Given the description of an element on the screen output the (x, y) to click on. 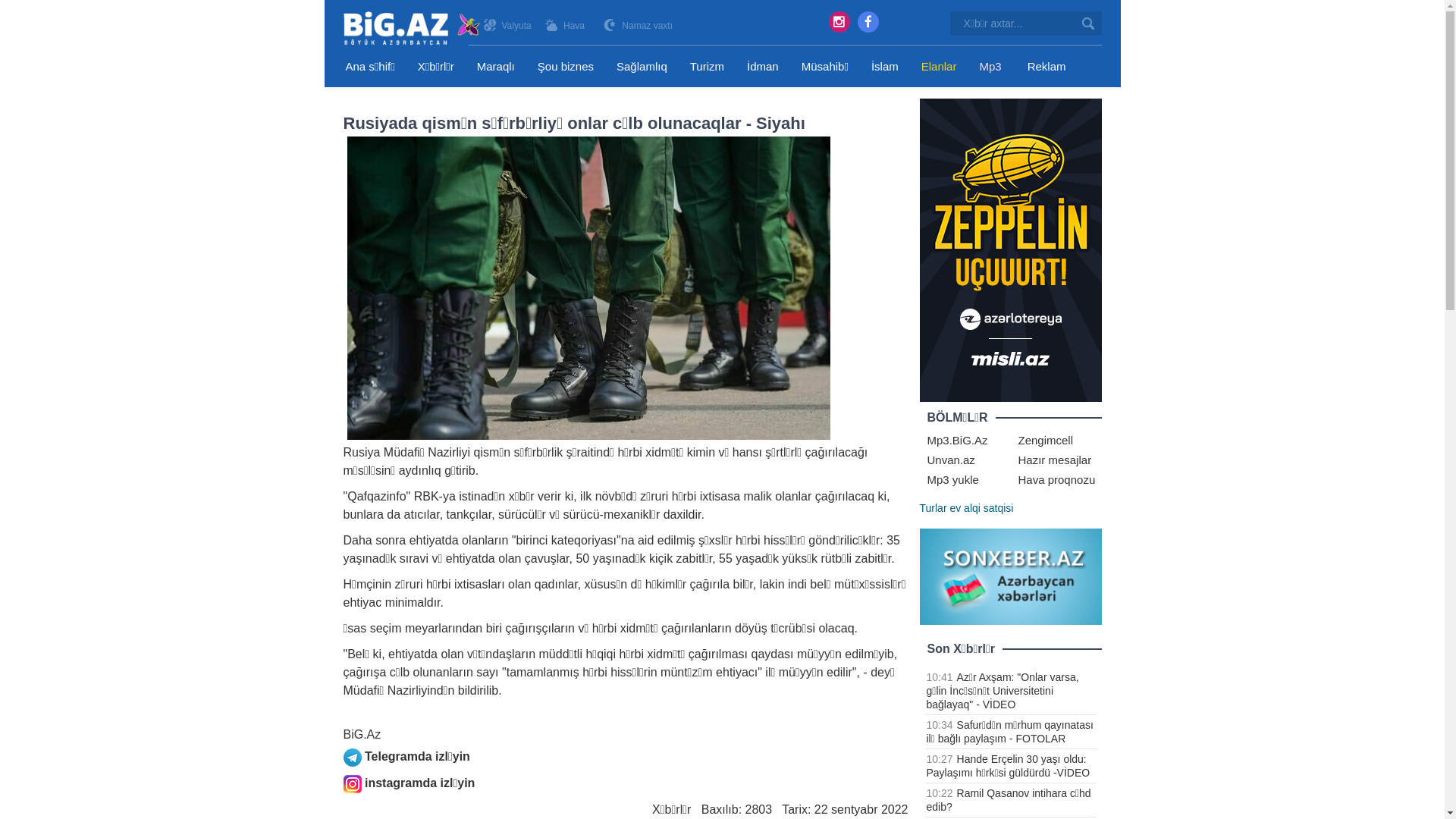
instagram big.az Element type: hover (838, 21)
Mp3 yukle Element type: text (952, 479)
Turlar Element type: text (932, 508)
Hava proqnozu Element type: text (1056, 479)
Elanlar Element type: text (939, 66)
ev alqi satqisi Element type: text (981, 508)
Zengimcell Element type: text (1045, 439)
Turizm Element type: text (707, 66)
Valyuta Element type: text (516, 25)
Unvan.az Element type: text (950, 459)
BiG.Az Element type: text (361, 734)
BiG.Az Element type: hover (411, 28)
Mp3 Element type: text (990, 66)
Facebook Big.az Element type: hover (867, 21)
Mp3.BiG.Az Element type: text (956, 439)
  Element type: text (1088, 23)
Reklam Element type: text (1046, 66)
Hava Element type: text (576, 25)
